Given the description of an element on the screen output the (x, y) to click on. 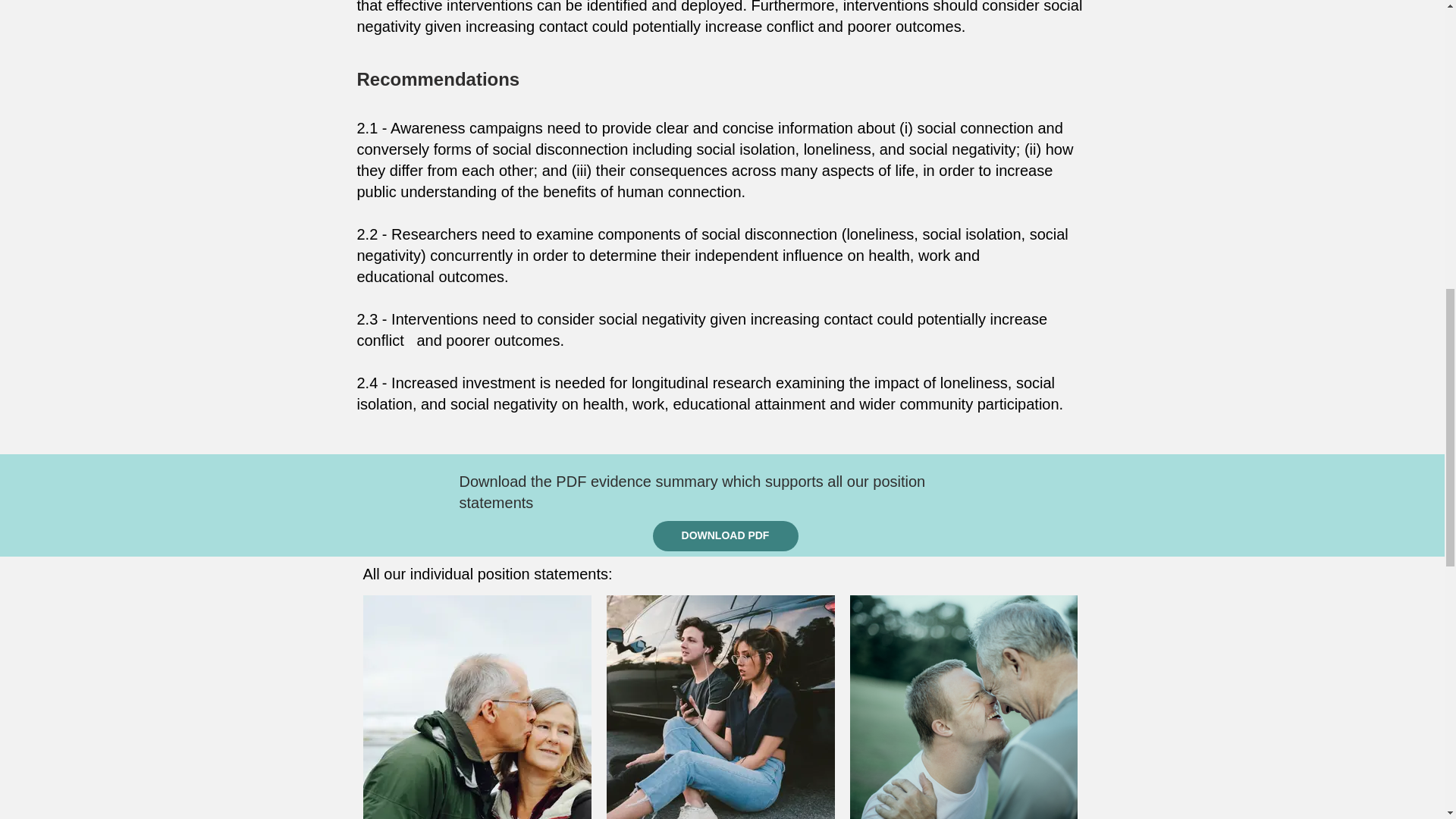
DOWNLOAD PDF (724, 535)
